Given the description of an element on the screen output the (x, y) to click on. 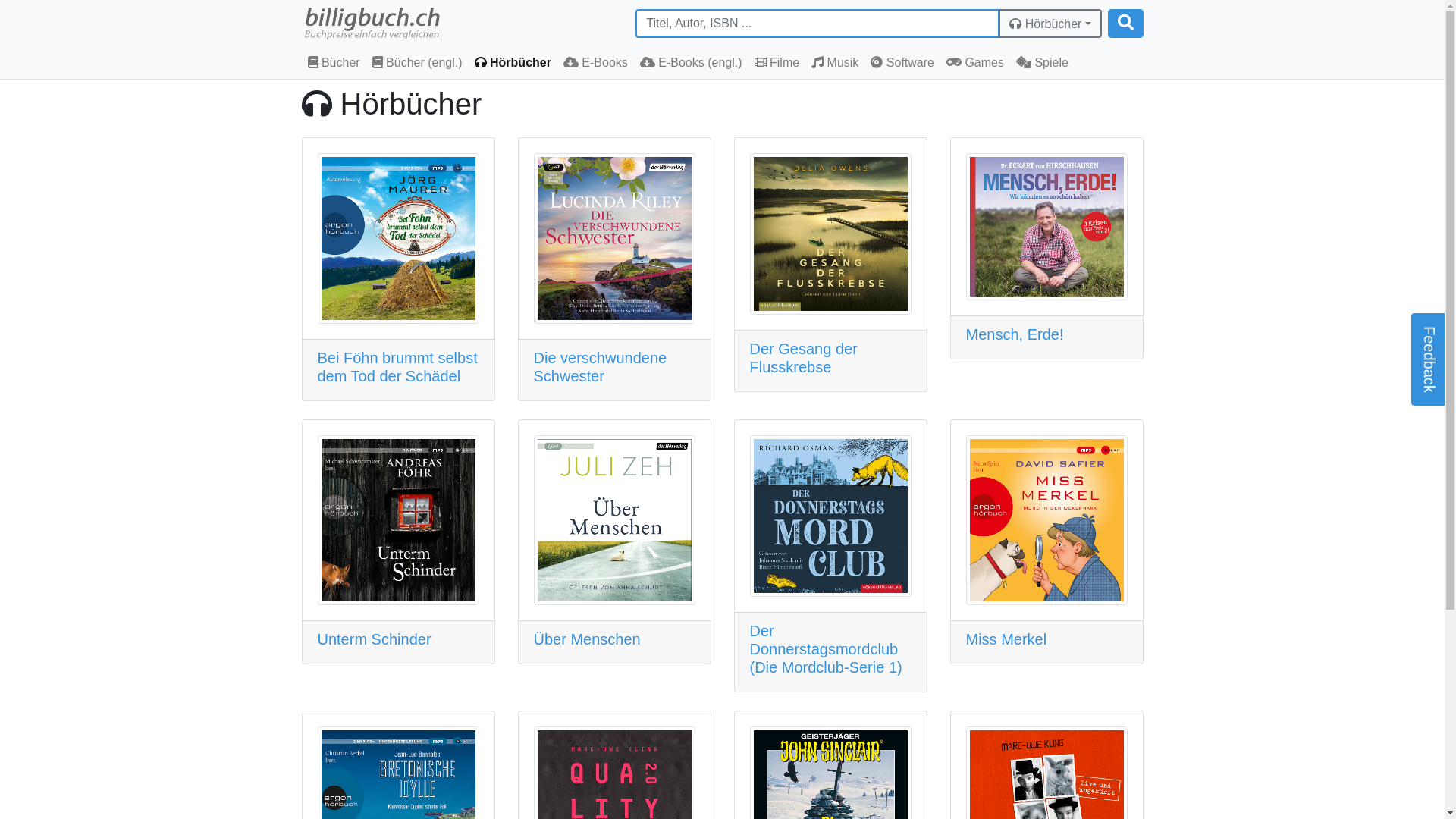
Games Element type: text (975, 62)
Miss Merkel Element type: text (1006, 638)
Mensch, Erde! Element type: text (1014, 334)
Software Element type: text (902, 62)
Spiele Element type: text (1042, 62)
E-Books (engl.) Element type: text (690, 62)
E-Books Element type: text (595, 62)
Der Gesang der Flusskrebse Element type: text (802, 357)
Die verschwundene Schwester Element type: text (600, 366)
Filme Element type: text (777, 62)
Unterm Schinder Element type: text (373, 638)
Der Donnerstagsmordclub (Die Mordclub-Serie 1) Element type: text (825, 648)
Musik Element type: text (834, 62)
